Given the description of an element on the screen output the (x, y) to click on. 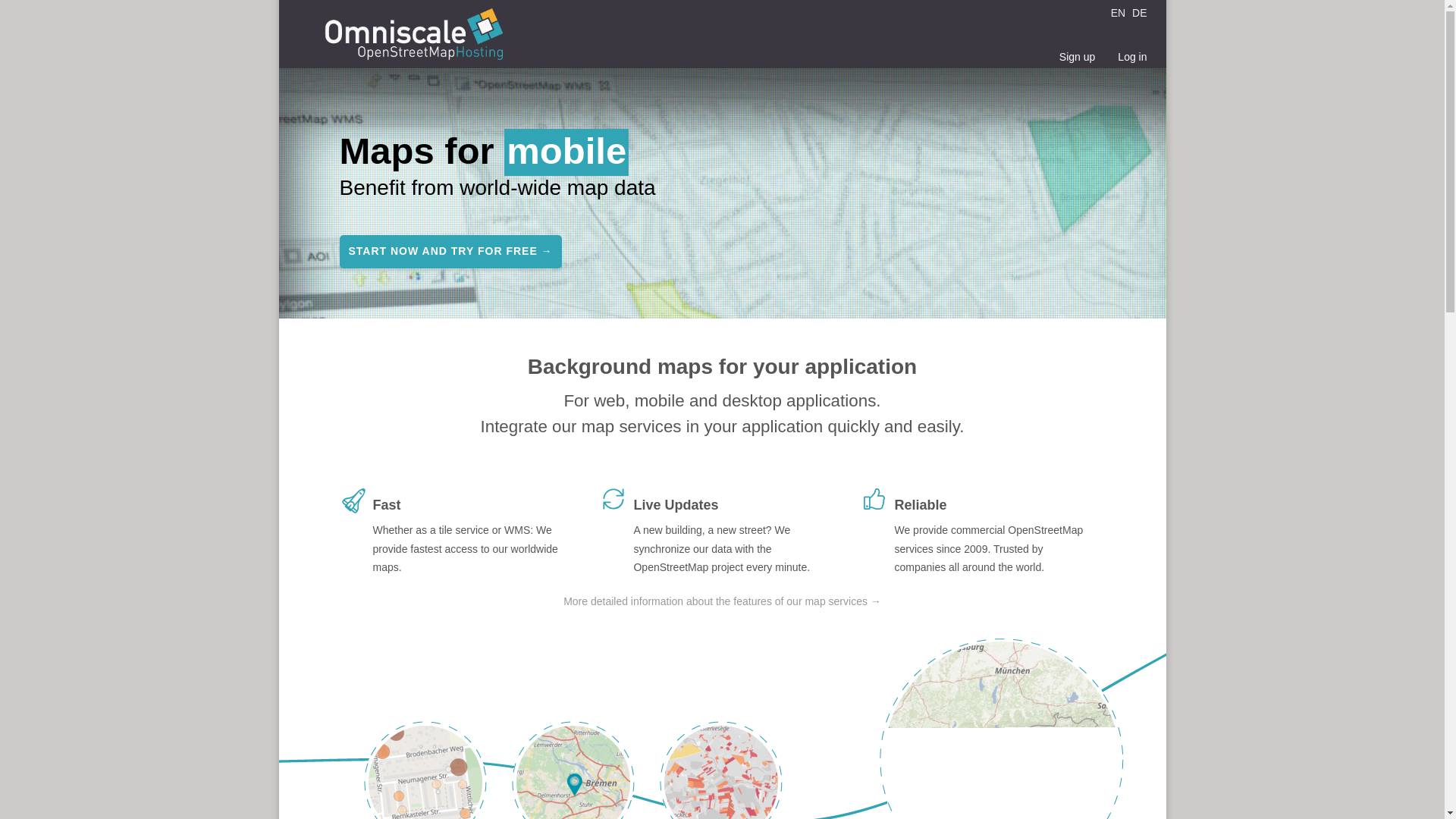
EN (1119, 12)
Log in (1131, 50)
Sign up (1077, 50)
DE (1139, 12)
Omniscale Hosting Logo (413, 37)
